Given the description of an element on the screen output the (x, y) to click on. 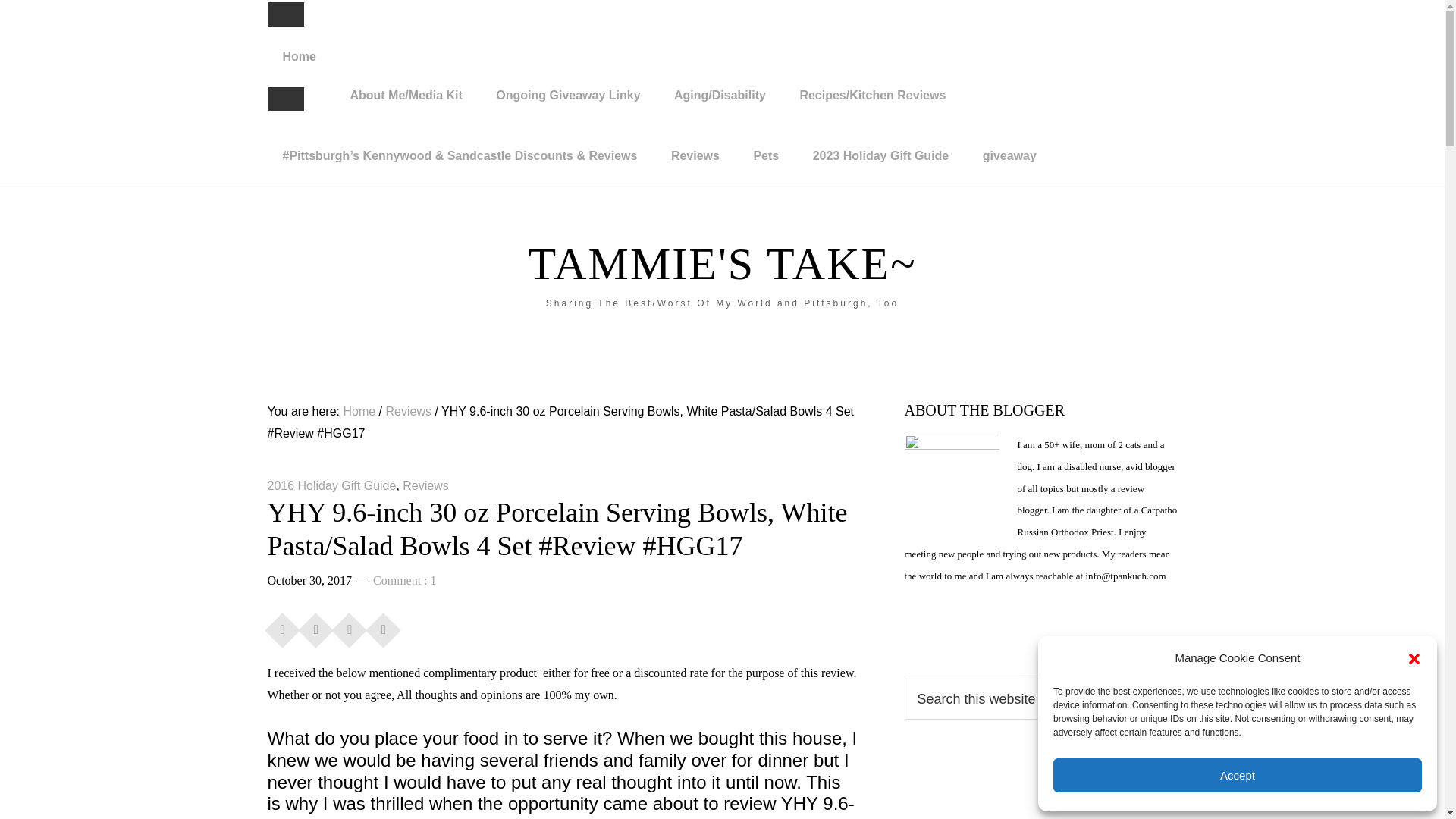
Comment : 1 (404, 580)
Ongoing Giveaway Linky (567, 95)
Advertisement (1040, 795)
2016 Holiday Gift Guide (331, 485)
Share on Pinterest (349, 625)
Reviews (425, 485)
Reviews (695, 156)
Pets (765, 156)
Home (298, 56)
Share it on Email (383, 625)
2023 Holiday Gift Guide (880, 156)
Share on Facebook (282, 625)
Reviews (407, 410)
